Given the description of an element on the screen output the (x, y) to click on. 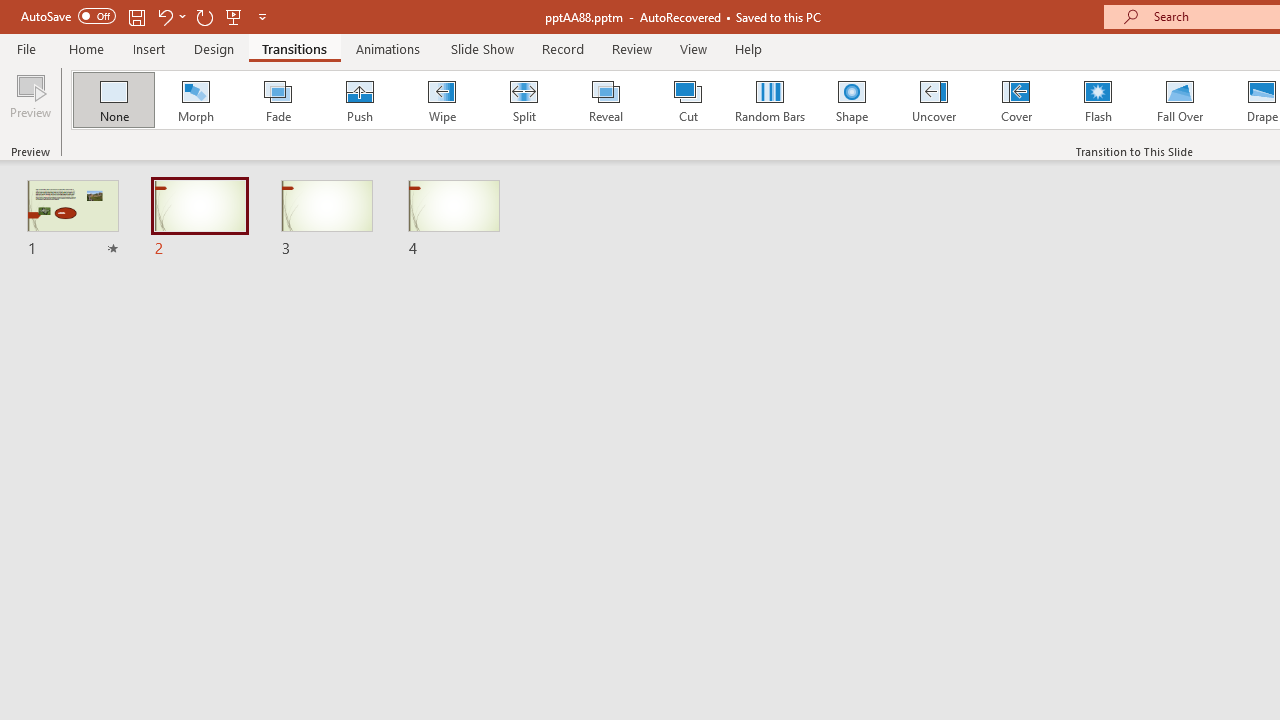
Reveal (605, 100)
Random Bars (770, 100)
Shape (852, 100)
None (113, 100)
Push (359, 100)
Fall Over (1180, 100)
